Given the description of an element on the screen output the (x, y) to click on. 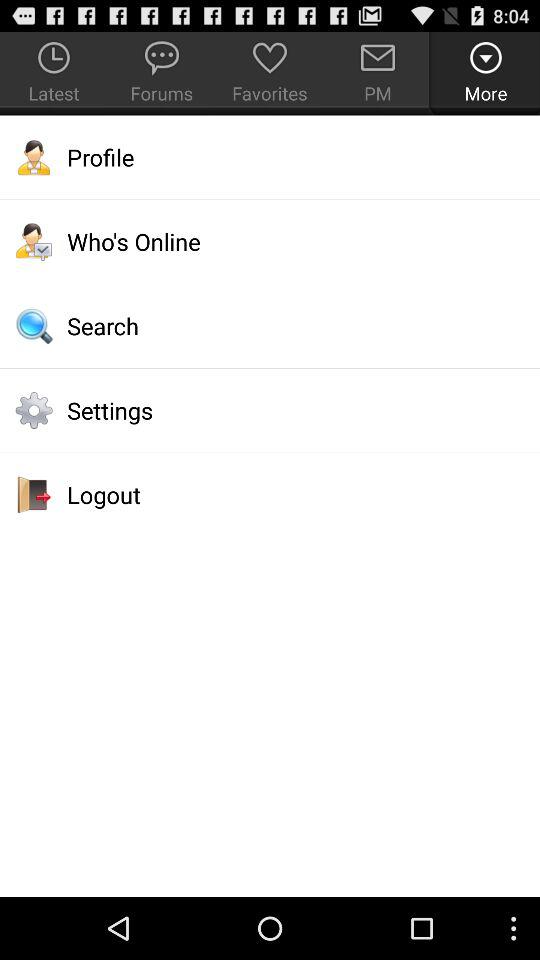
select app below the   search app (270, 410)
